Given the description of an element on the screen output the (x, y) to click on. 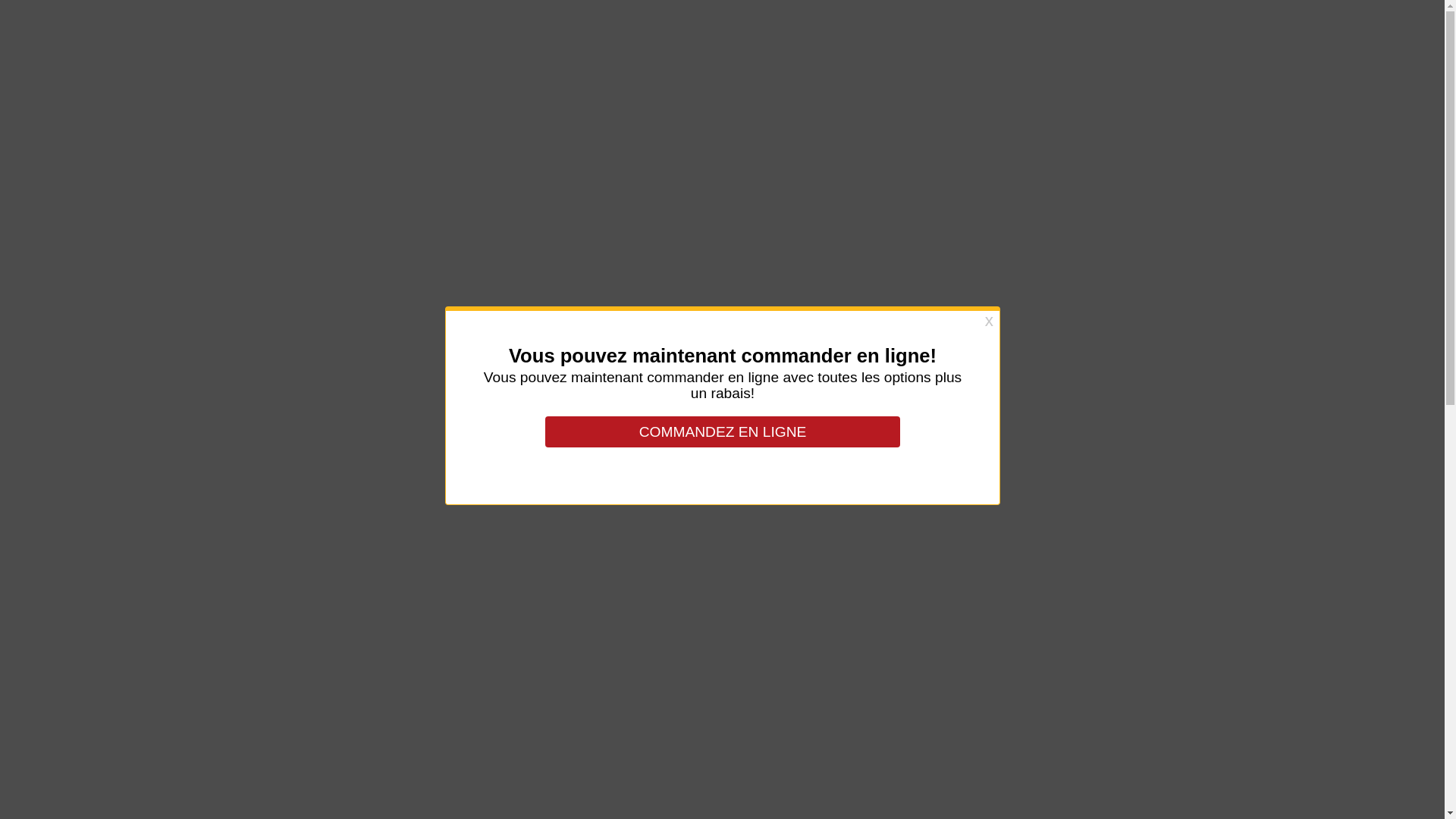
0
shopping_cart Element type: text (1388, 54)
Book a Table Element type: text (1034, 697)
Home Element type: text (687, 111)
CONTACT Element type: text (1319, 54)
HOME Element type: text (1172, 54)
MENU Element type: text (1241, 54)
